Given the description of an element on the screen output the (x, y) to click on. 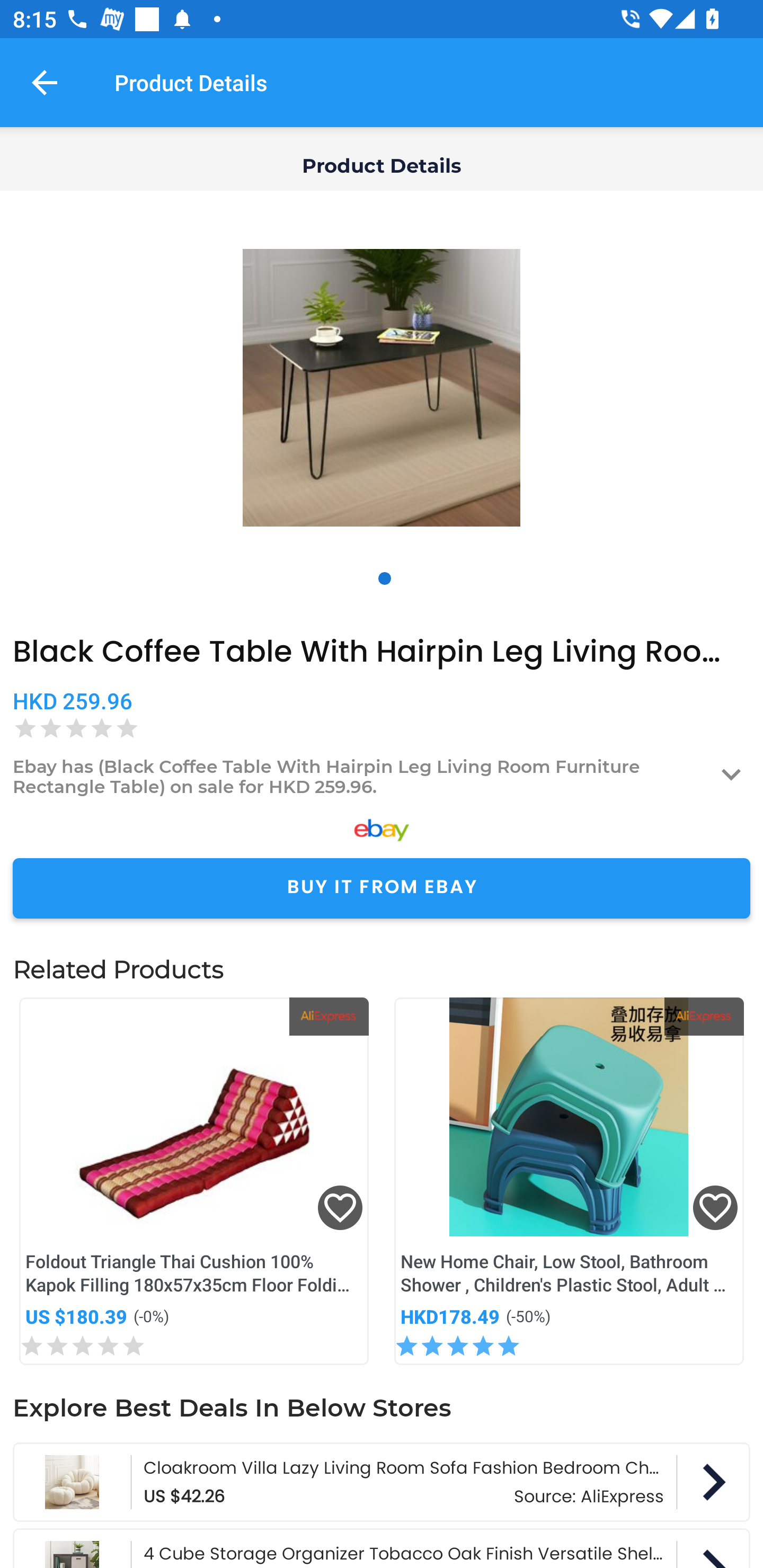
Navigate up (44, 82)
BUY IT FROM EBAY (381, 888)
